Given the description of an element on the screen output the (x, y) to click on. 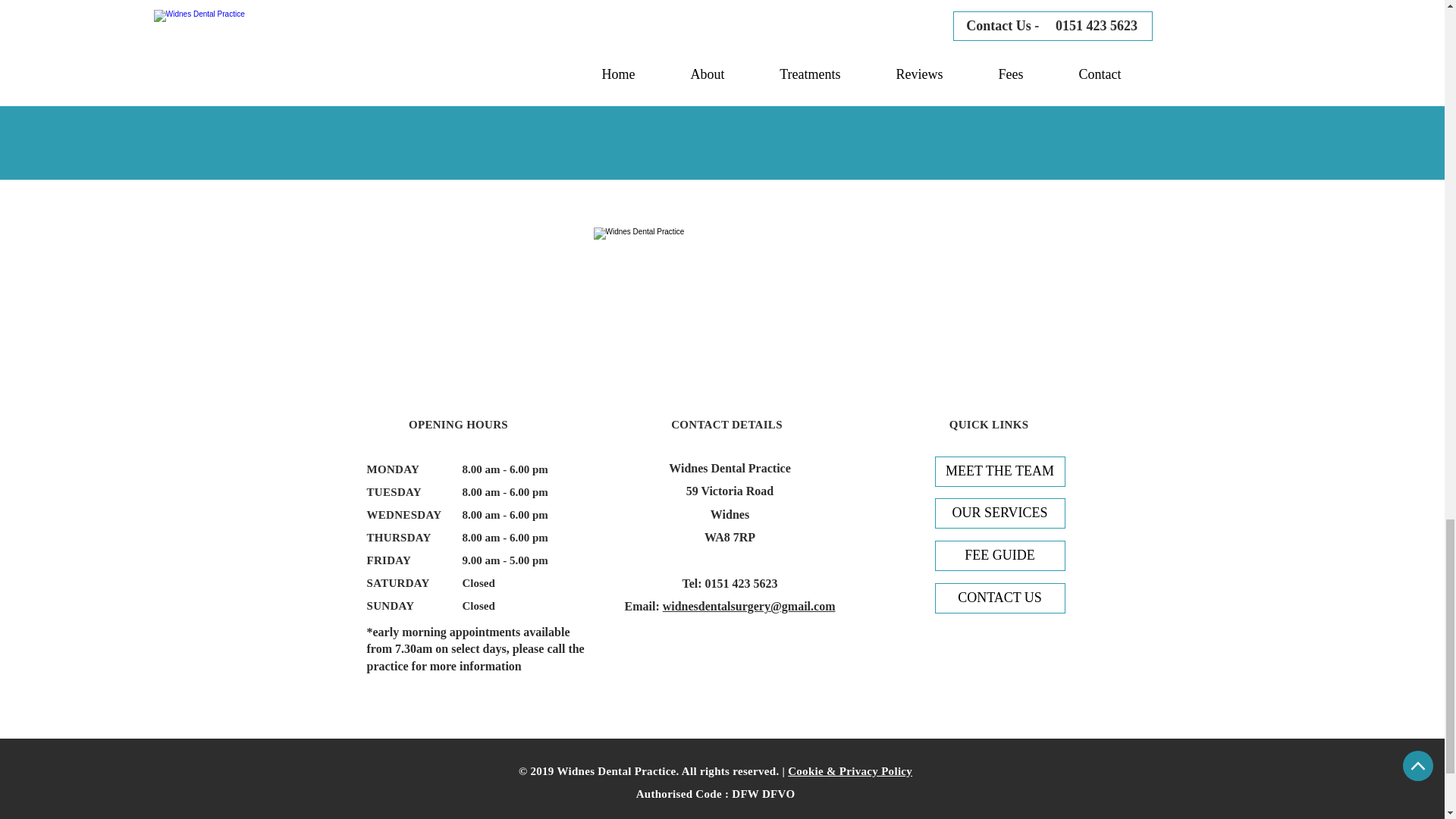
FEE GUIDE (999, 555)
0151 423 5623 (740, 583)
OUR SERVICES (999, 512)
MEET THE TEAM (999, 471)
Send Now (572, 88)
CONTACT US (999, 598)
